Given the description of an element on the screen output the (x, y) to click on. 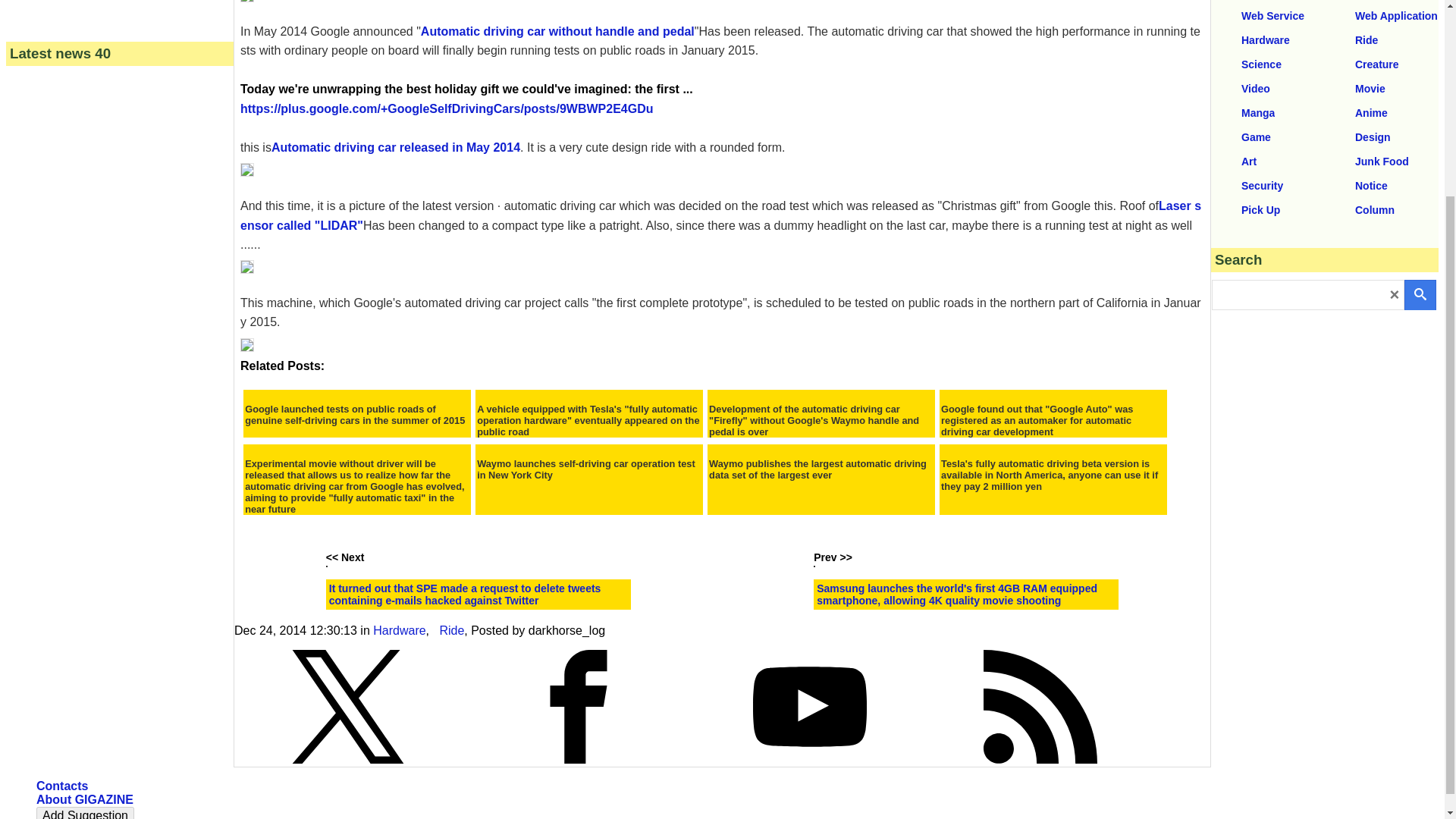
Hardware (398, 630)
Laser sensor called "LIDAR" (720, 215)
Automatic driving car without handle and pedal (557, 31)
Automatic driving car released in May 2014 (394, 146)
Ride (451, 630)
